Given the description of an element on the screen output the (x, y) to click on. 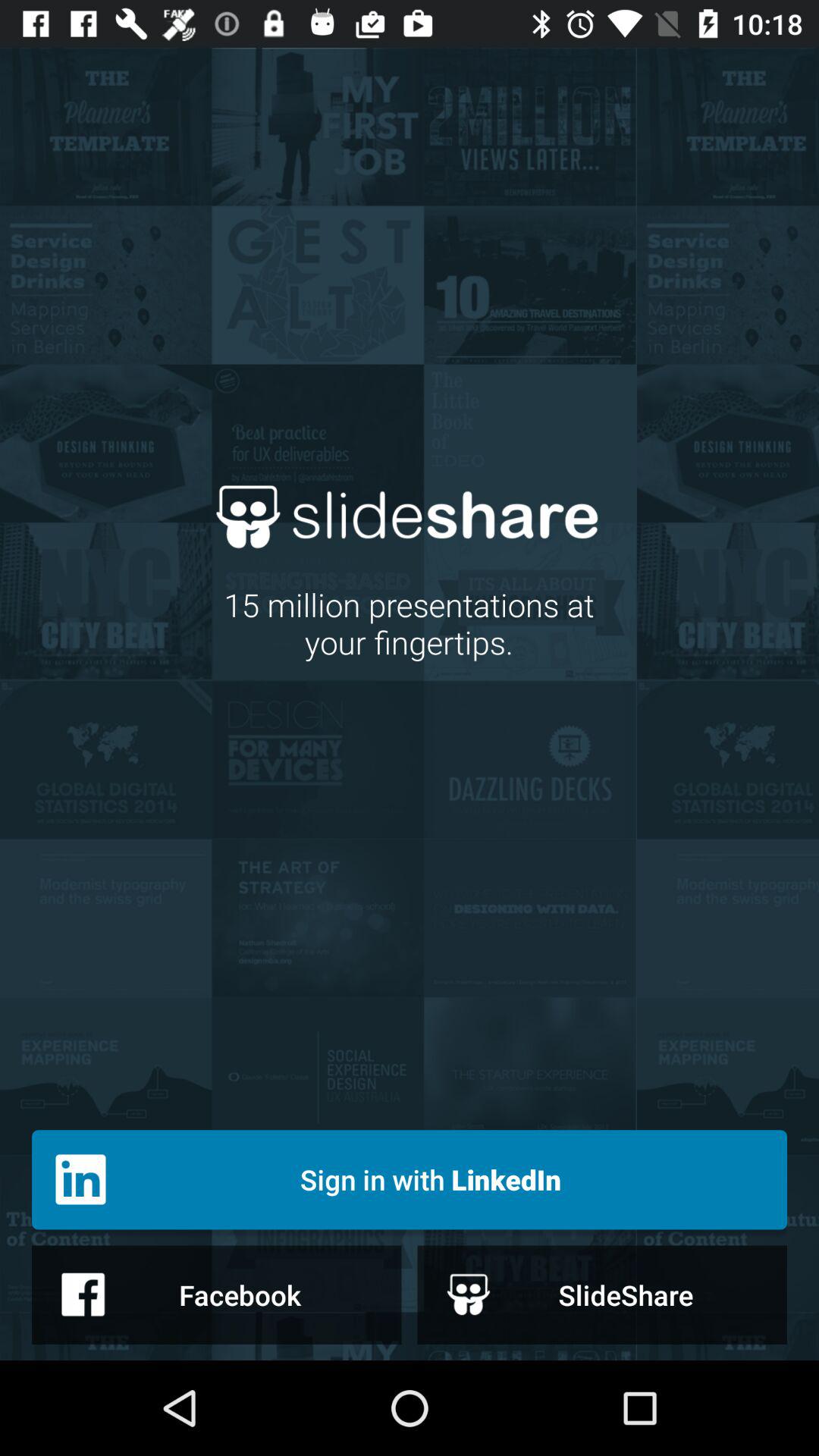
launch the slideshare icon (602, 1294)
